Given the description of an element on the screen output the (x, y) to click on. 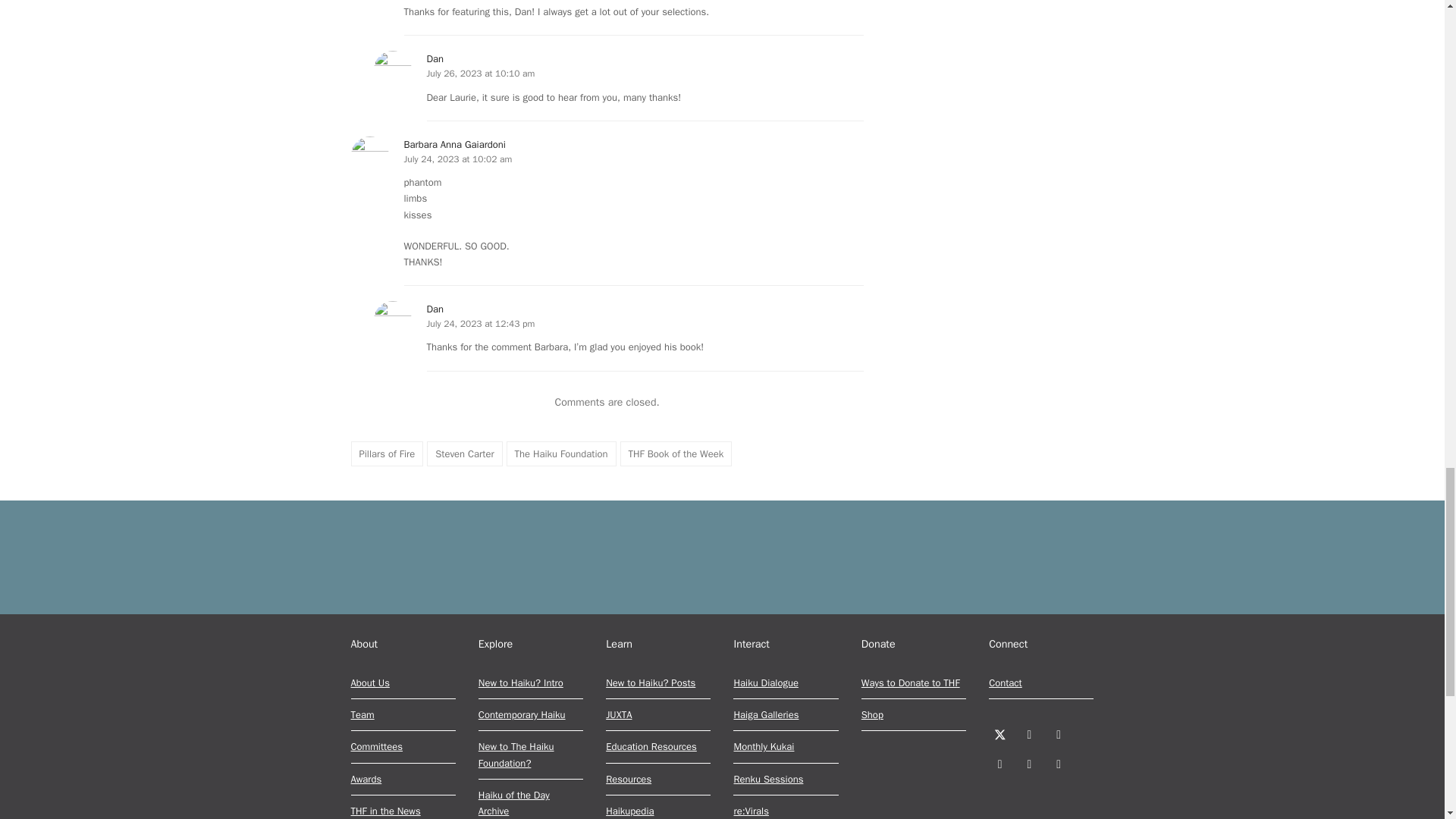
Facebook (1029, 734)
YouTube (1029, 763)
Instagram (1059, 734)
Pinterest (999, 763)
Twitter (999, 734)
Tiktok (1059, 763)
